Given the description of an element on the screen output the (x, y) to click on. 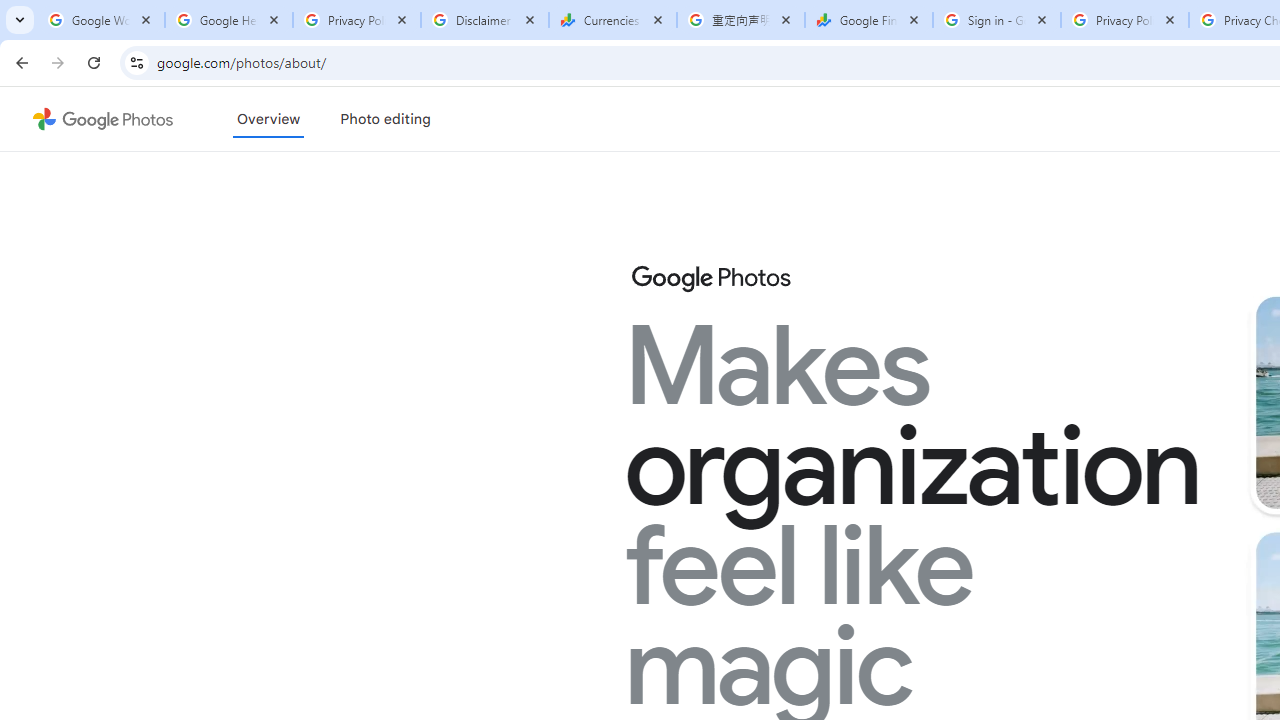
Visit the photo editing page (385, 119)
Google Photos logo (710, 278)
Sign in - Google Accounts (997, 20)
Visit the Overview page (268, 119)
